Given the description of an element on the screen output the (x, y) to click on. 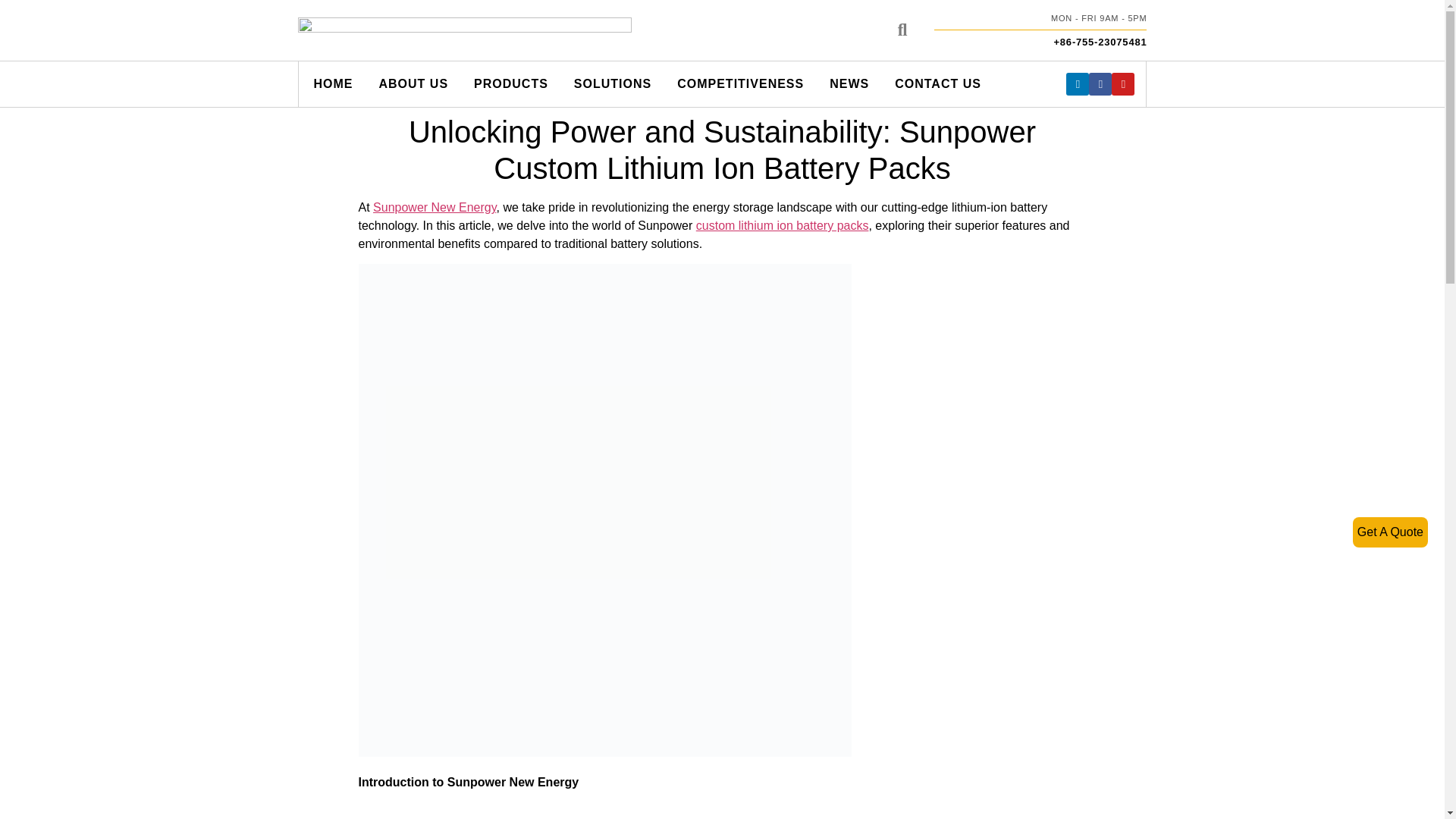
SOLUTIONS (610, 84)
ABOUT US (412, 84)
custom lithium ion battery packs (782, 225)
NEWS (846, 84)
COMPETITIVENESS (737, 84)
CONTACT US (935, 84)
Sunpower New Energy (434, 206)
PRODUCTS (508, 84)
HOME (331, 84)
